Given the description of an element on the screen output the (x, y) to click on. 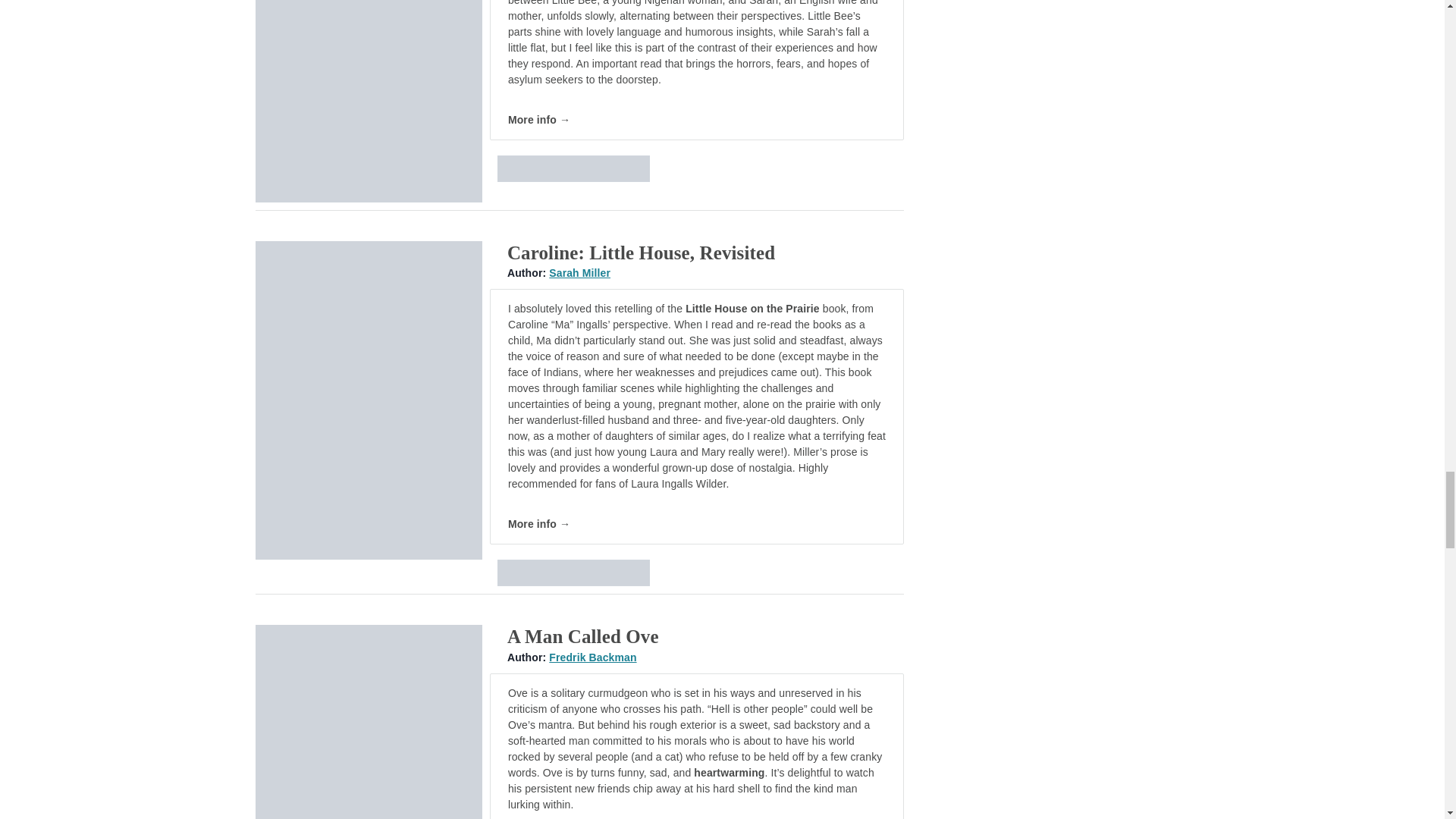
heartwarming (729, 772)
